Given the description of an element on the screen output the (x, y) to click on. 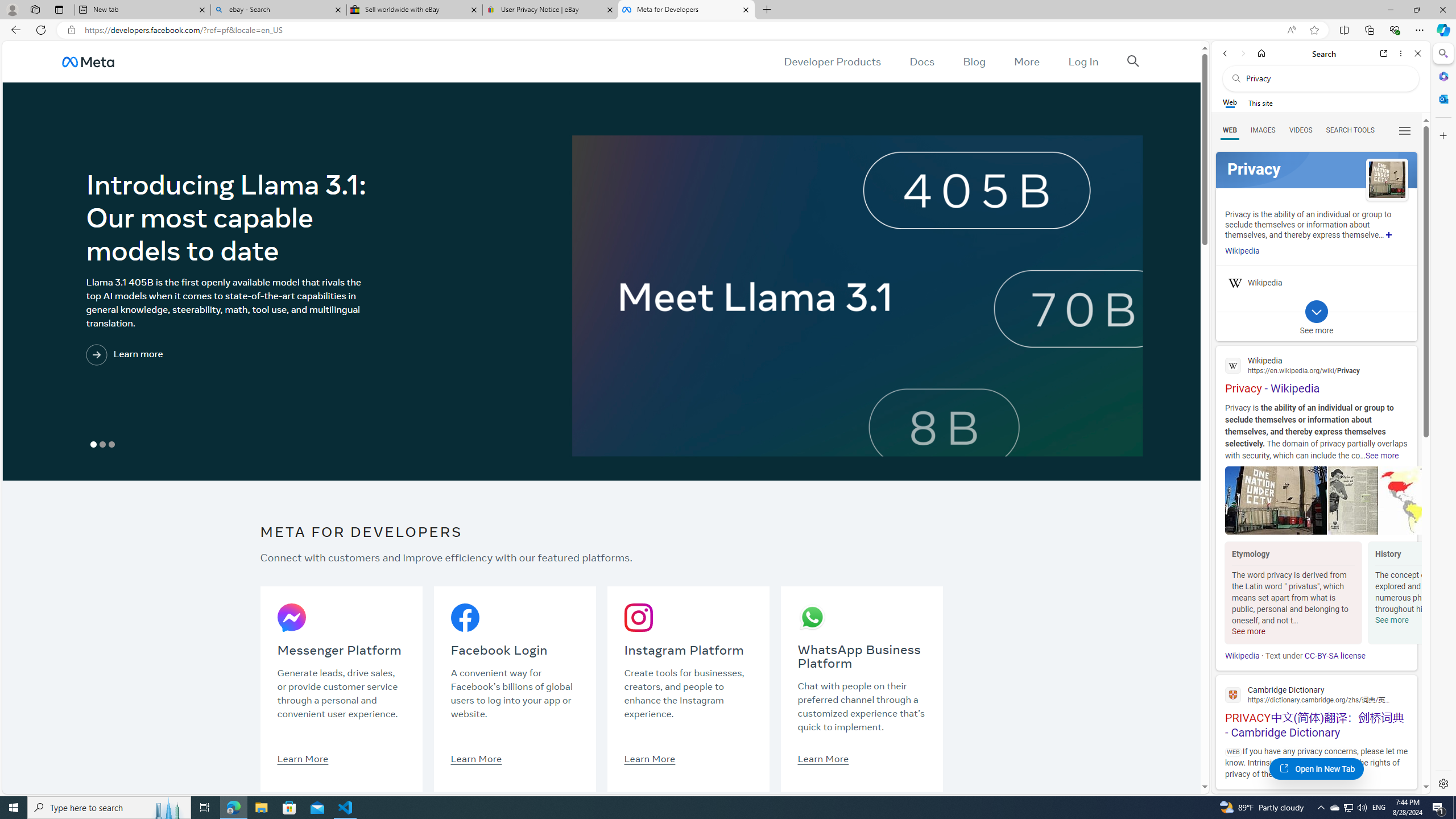
Developer Products (832, 61)
Blog (974, 61)
Log In (1083, 61)
Search Filter, VIDEOS (1300, 129)
Search the web (1326, 78)
